Given the description of an element on the screen output the (x, y) to click on. 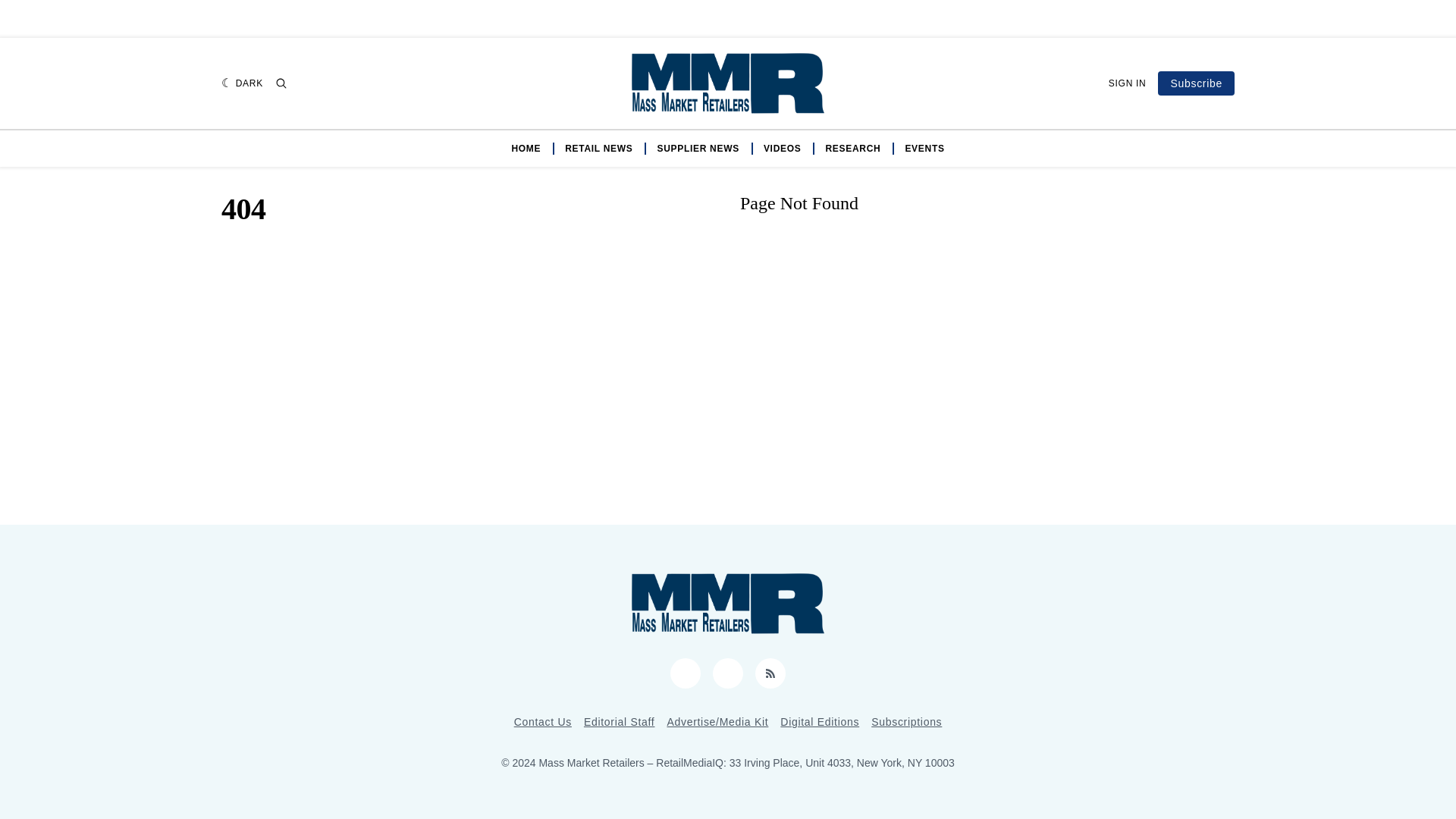
SIGN IN (1127, 82)
HOME (525, 148)
VIDEOS (782, 148)
Digital Editions (819, 721)
RETAIL NEWS (597, 148)
YouTube (684, 673)
RESEARCH (852, 148)
EVENTS (923, 148)
LinkedIn (727, 673)
DARK (242, 83)
Contact Us (542, 721)
RSS (770, 673)
Editorial Staff (619, 721)
Subscriptions (906, 721)
Subscribe (1195, 83)
